Given the description of an element on the screen output the (x, y) to click on. 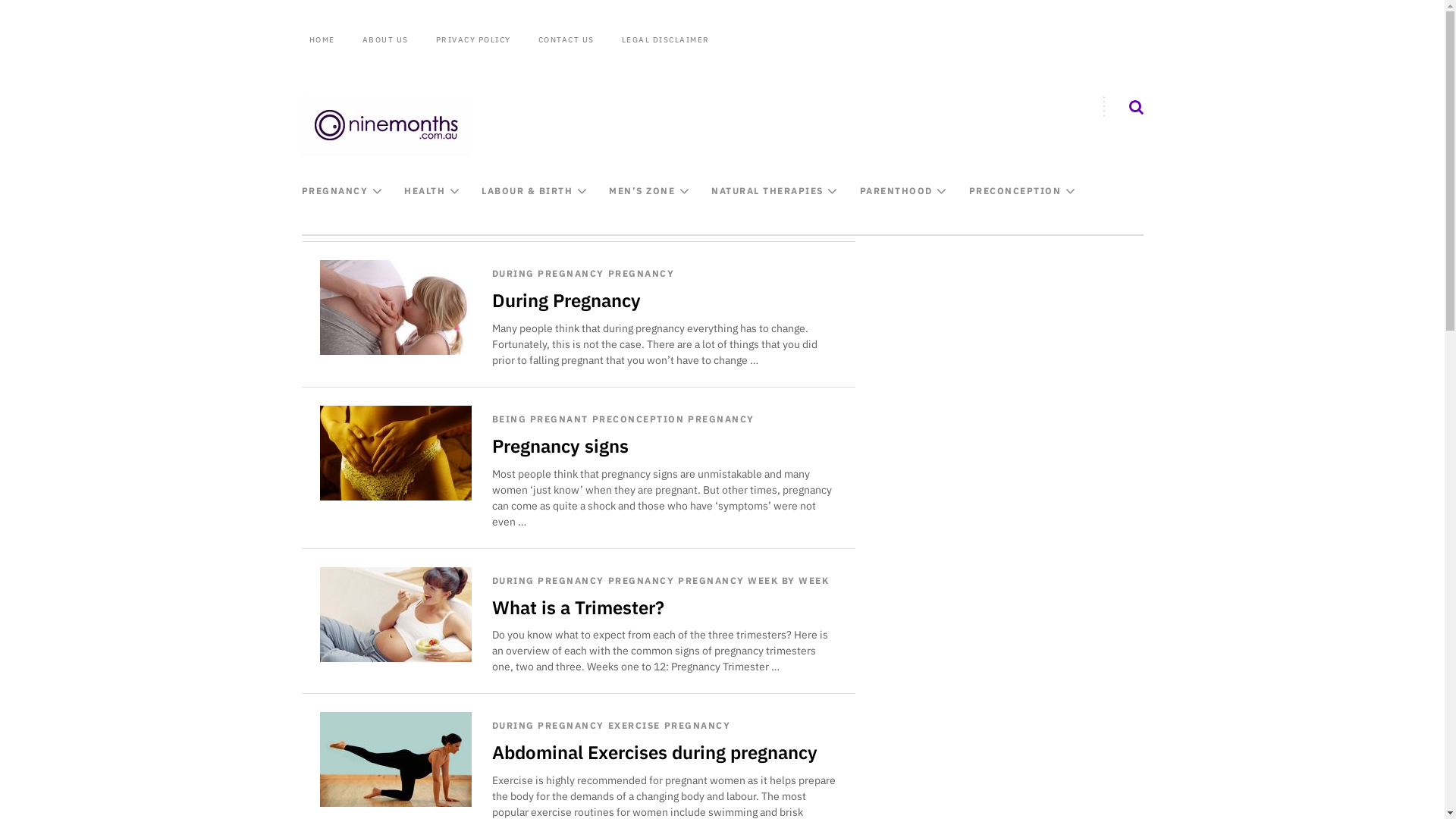
PREGNANCY Element type: text (641, 273)
PREGNANCY Element type: text (334, 191)
Abdominal Exercises during pregnancy Element type: text (654, 752)
PREGNANCY WEEK BY WEEK Element type: text (752, 580)
What is a Trimester? Element type: text (578, 607)
PRECONCEPTION Element type: text (638, 419)
DURING PREGNANCY Element type: text (548, 580)
What is a Trimester? Element type: hover (395, 614)
BEING PREGNANT Element type: text (540, 419)
PREGNANCY Element type: text (697, 725)
DURING PREGNANCY Element type: text (548, 725)
EXERCISE Element type: text (634, 725)
ABOUT US Element type: text (385, 39)
Pregnancy signs Element type: text (560, 445)
PREGNANCY Element type: text (641, 580)
Abdominal Exercises during pregnancy Element type: hover (395, 759)
PARENTHOOD Element type: text (895, 191)
Pregnancy signs Element type: hover (395, 452)
PREGNANCY Element type: text (720, 419)
During Pregnancy Element type: text (566, 300)
LABOUR & BIRTH Element type: text (526, 191)
PRECONCEPTION Element type: text (1015, 191)
HOME Element type: text (324, 39)
DURING PREGNANCY Element type: text (548, 273)
NATURAL THERAPIES Element type: text (767, 191)
CONTACT US Element type: text (566, 39)
HEALTH Element type: text (424, 191)
LEGAL DISCLAIMER Element type: text (665, 39)
During Pregnancy Element type: hover (395, 307)
PRIVACY POLICY Element type: text (472, 39)
